Given the description of an element on the screen output the (x, y) to click on. 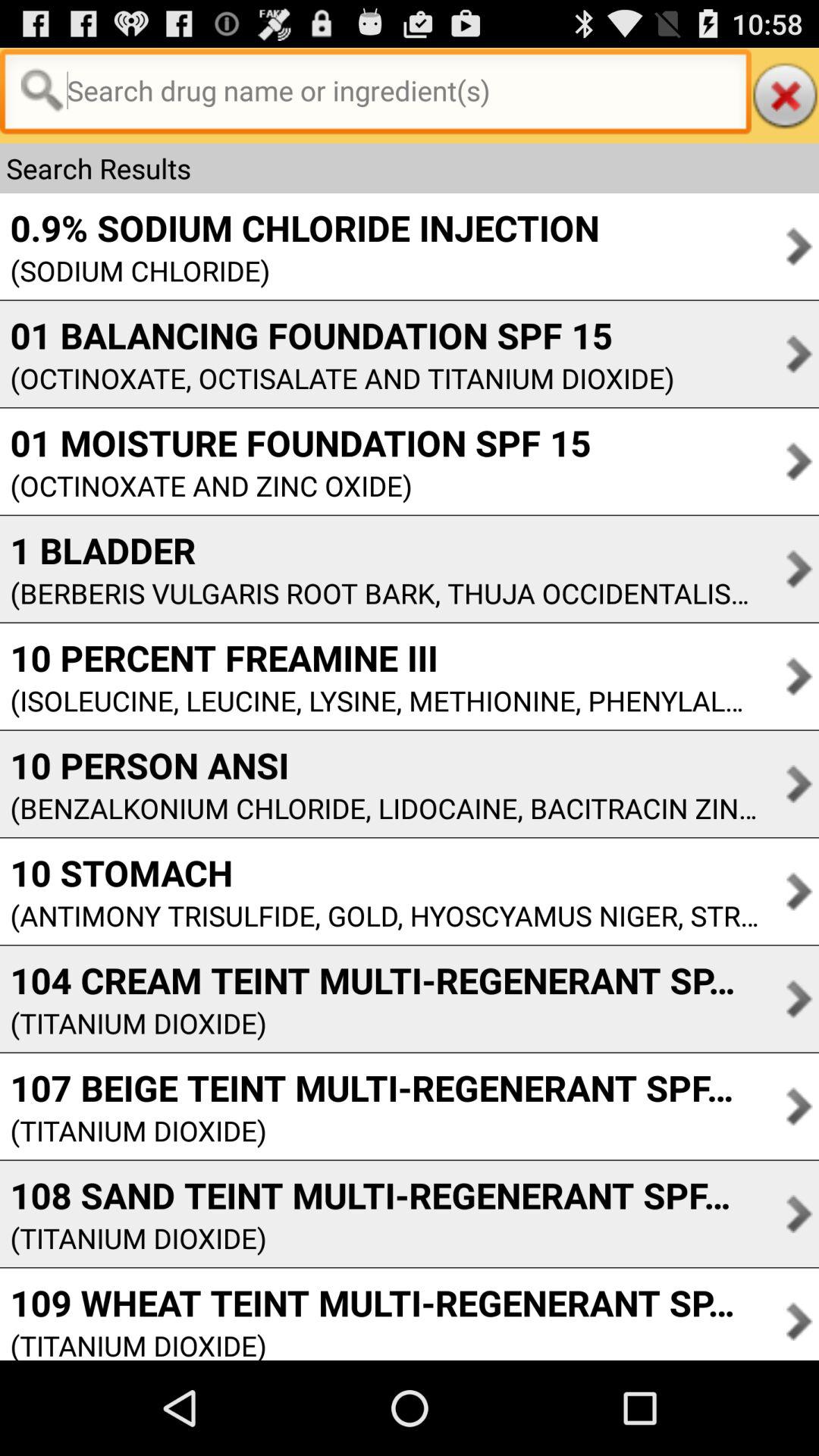
press the 10 person ansi icon (379, 765)
